Given the description of an element on the screen output the (x, y) to click on. 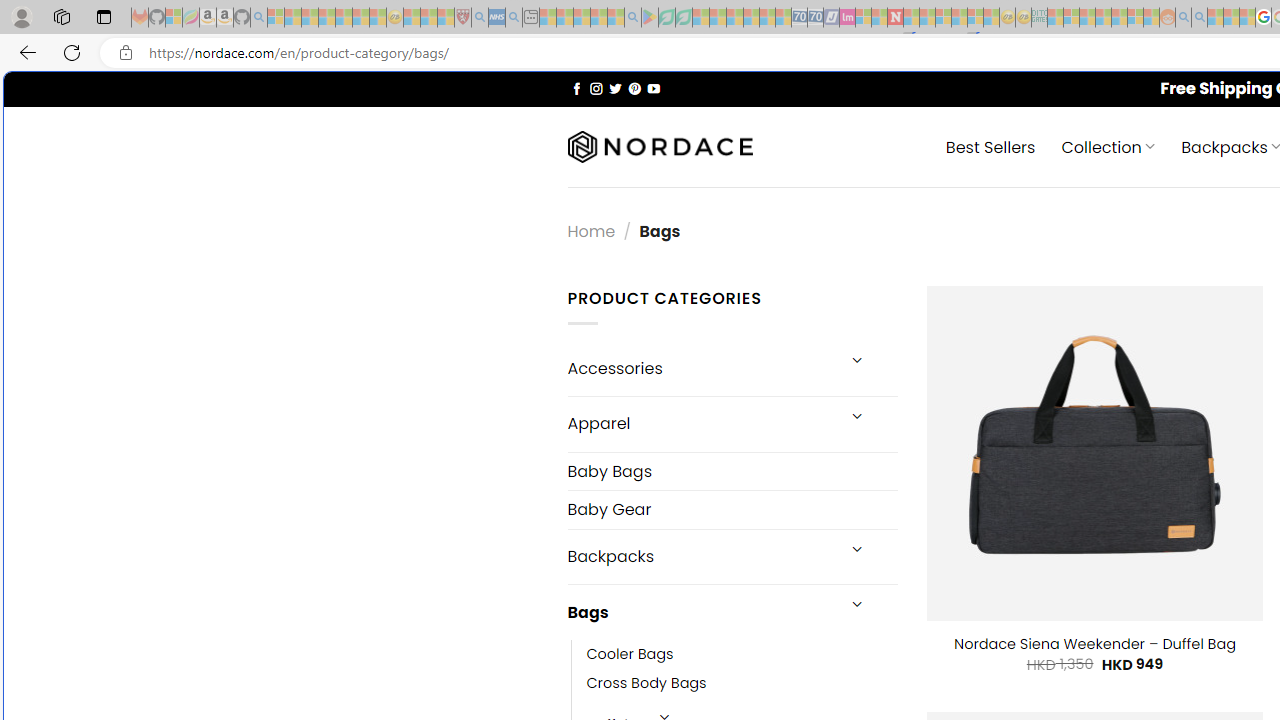
Cross Body Bags (646, 683)
Follow on Pinterest (634, 88)
